Given the description of an element on the screen output the (x, y) to click on. 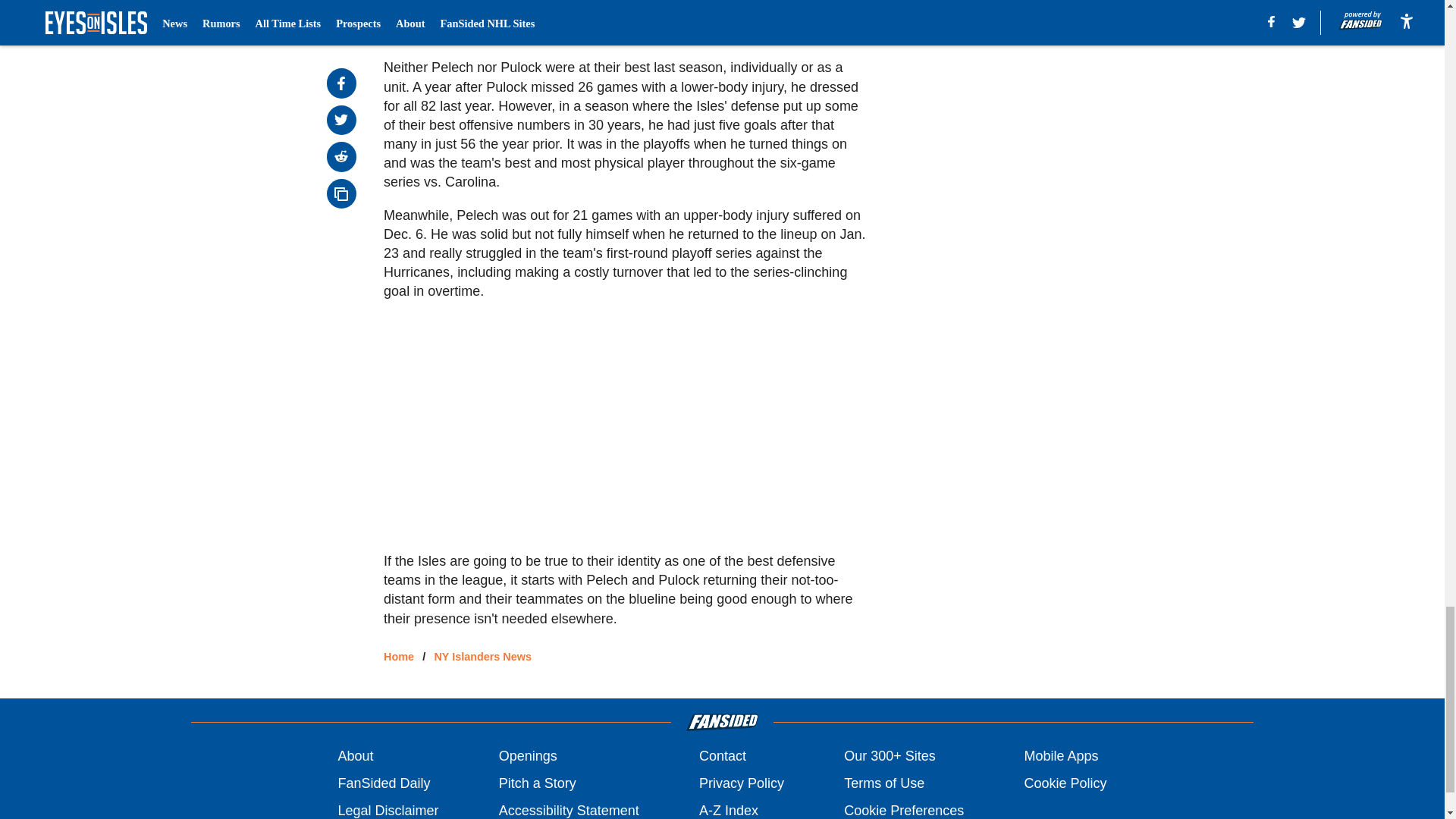
NY Islanders News (482, 656)
Pitch a Story (537, 783)
About (354, 755)
Privacy Policy (741, 783)
FanSided Daily (383, 783)
Mobile Apps (1060, 755)
Contact (721, 755)
Home (398, 656)
Openings (528, 755)
